Given the description of an element on the screen output the (x, y) to click on. 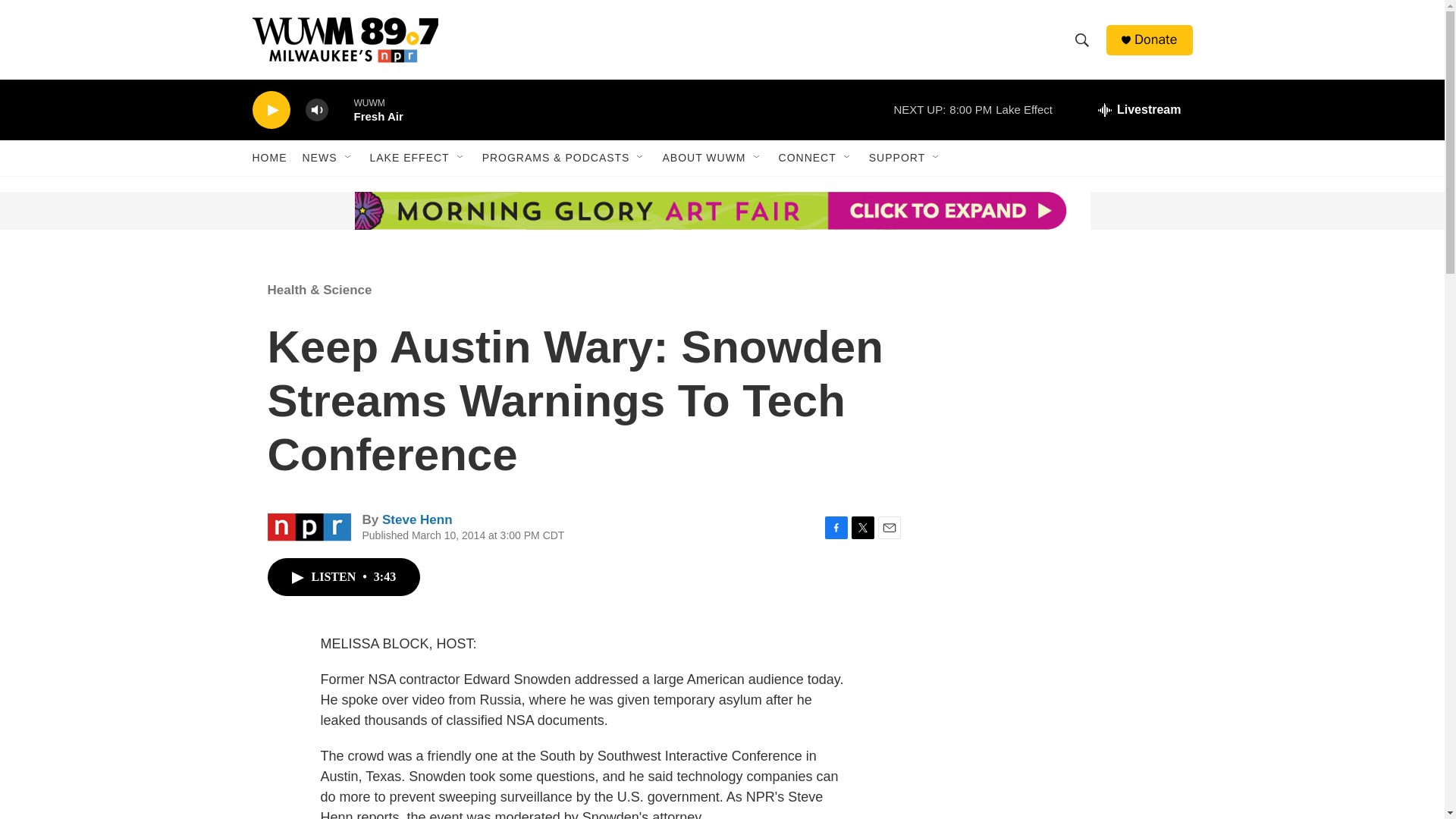
3rd party ad content (1062, 608)
3rd party ad content (367, 210)
3rd party ad content (1062, 785)
3rd party ad content (1062, 370)
